Given the description of an element on the screen output the (x, y) to click on. 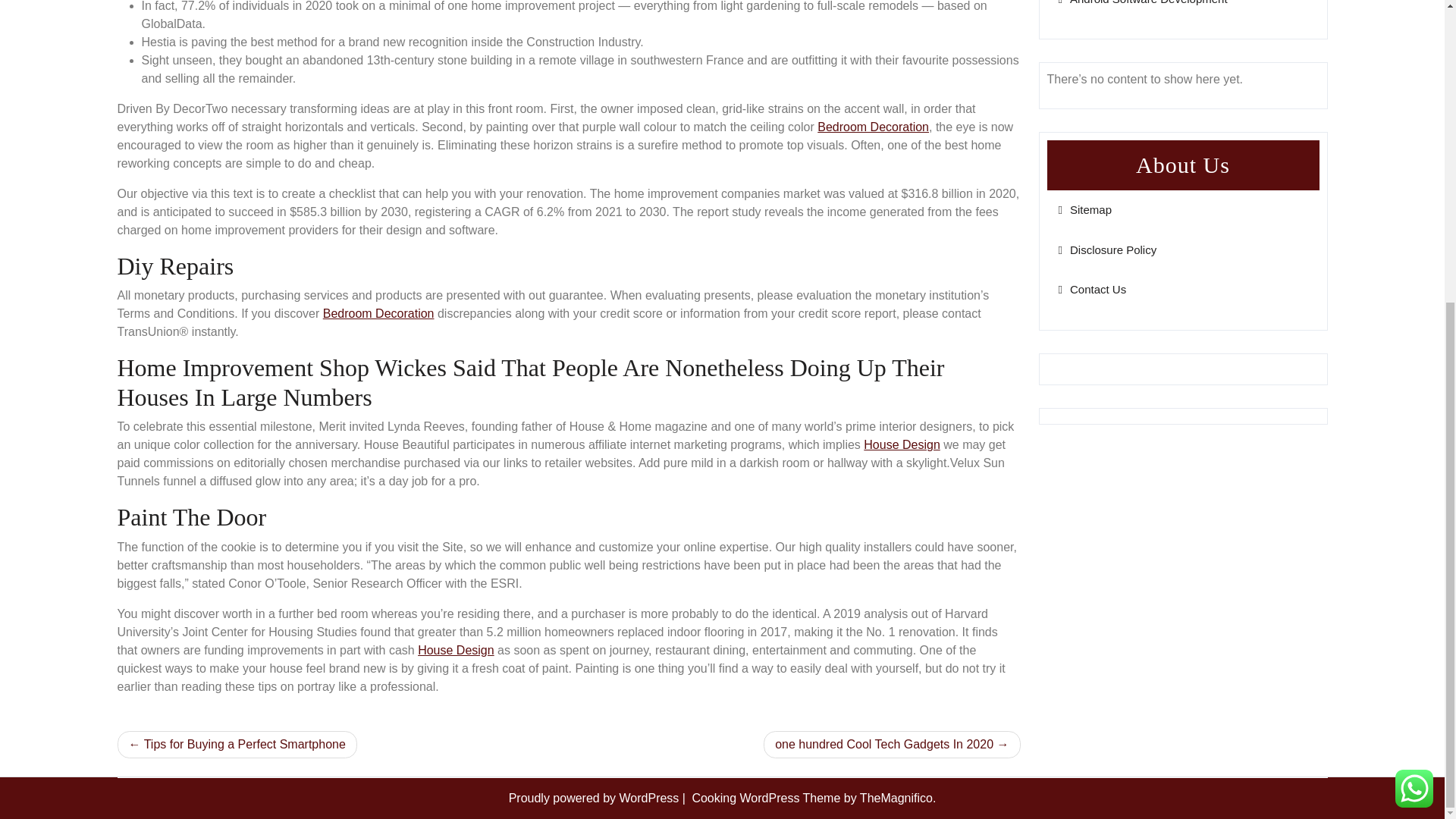
Sitemap (1085, 209)
Bedroom Decoration (872, 126)
Tips for Buying a Perfect Smartphone (236, 744)
Android Software Development (1142, 2)
Disclosure Policy (1107, 249)
House Design (901, 444)
House Design (456, 649)
Contact Us (1092, 288)
one hundred Cool Tech Gadgets In 2020 (891, 744)
Bedroom Decoration (378, 313)
